Given the description of an element on the screen output the (x, y) to click on. 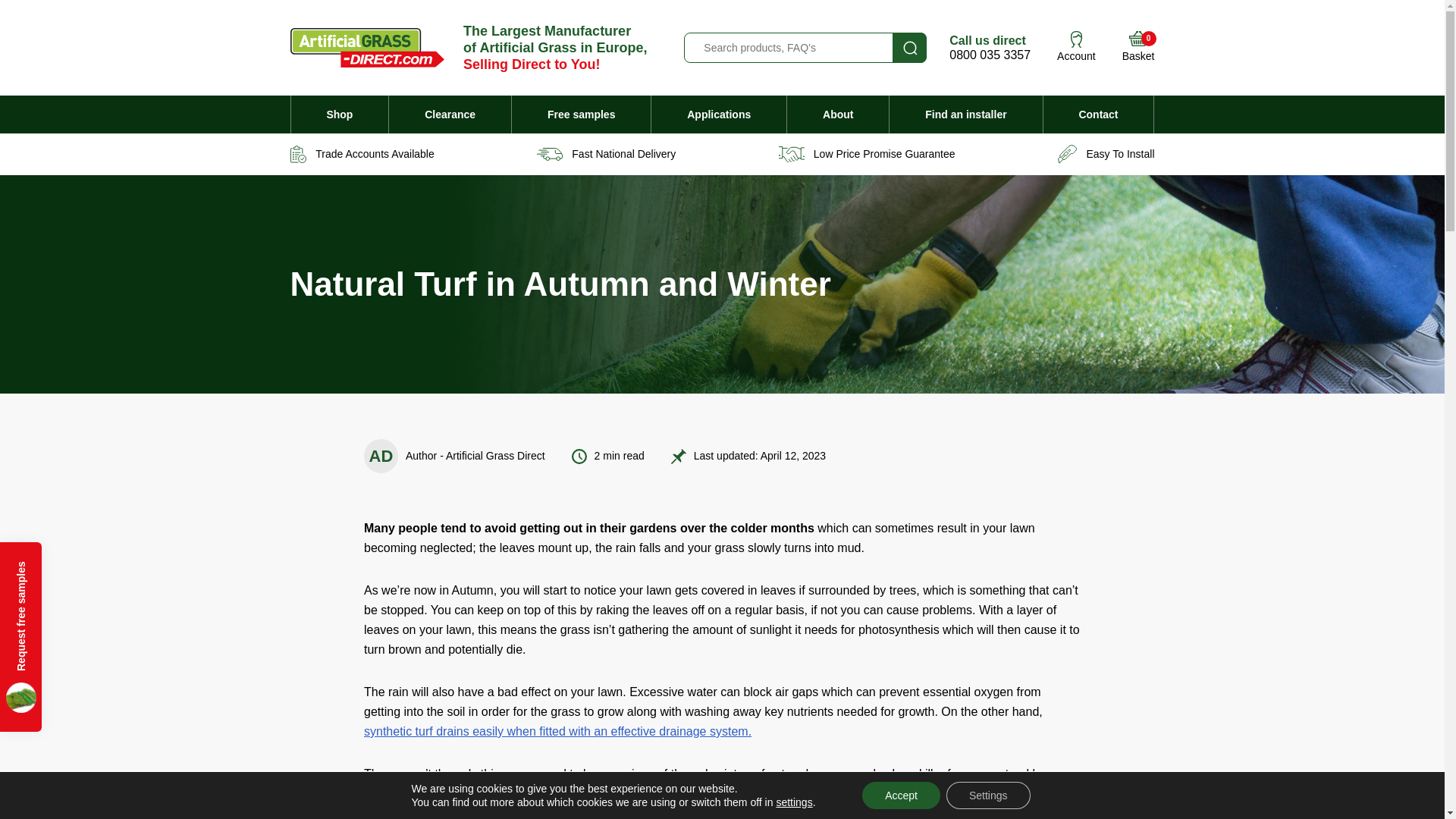
Shop (339, 114)
Contact (1098, 114)
0800 035 3357 (989, 54)
Clearance (449, 114)
Applications (718, 114)
Free samples (581, 114)
Request free samples (94, 562)
About (837, 114)
Find an installer (965, 114)
Account (1138, 47)
